Given the description of an element on the screen output the (x, y) to click on. 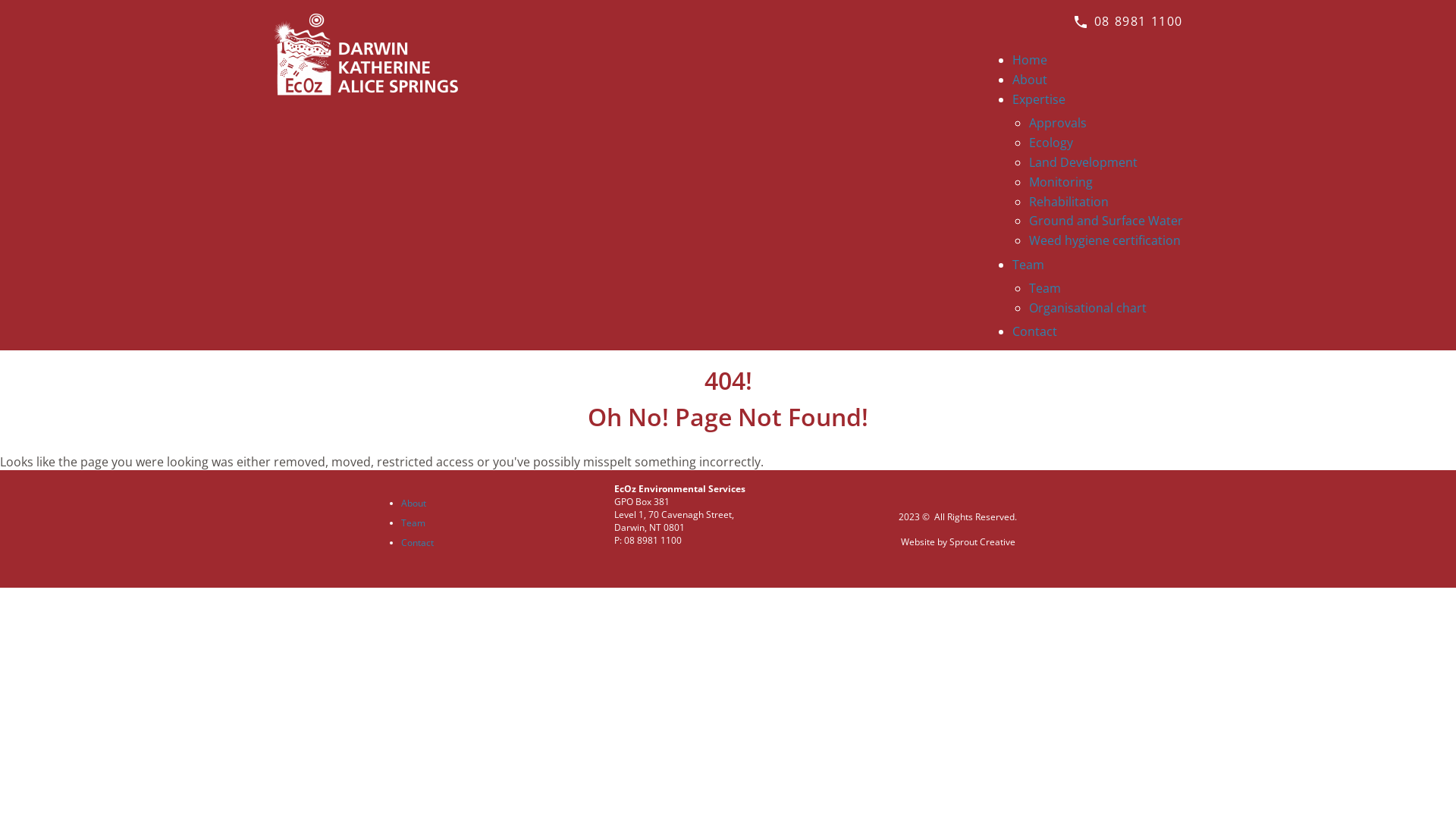
Website by Sprout Creative Element type: text (957, 541)
Land Development Element type: text (1083, 161)
Ecology Element type: text (1051, 142)
Monitoring Element type: text (1060, 181)
Team Element type: text (413, 522)
Team Element type: text (1028, 264)
Weed hygiene certification Element type: text (1104, 240)
Team Element type: text (1044, 287)
About Element type: text (1029, 79)
About Element type: text (413, 502)
Rehabilitation Element type: text (1068, 201)
Ground and Surface Water Element type: text (1106, 220)
Home Element type: text (1029, 59)
Organisational chart Element type: text (1087, 307)
Contact Element type: text (1034, 331)
Approvals Element type: text (1057, 122)
Expertise Element type: text (1038, 99)
Contact Element type: text (417, 542)
